Given the description of an element on the screen output the (x, y) to click on. 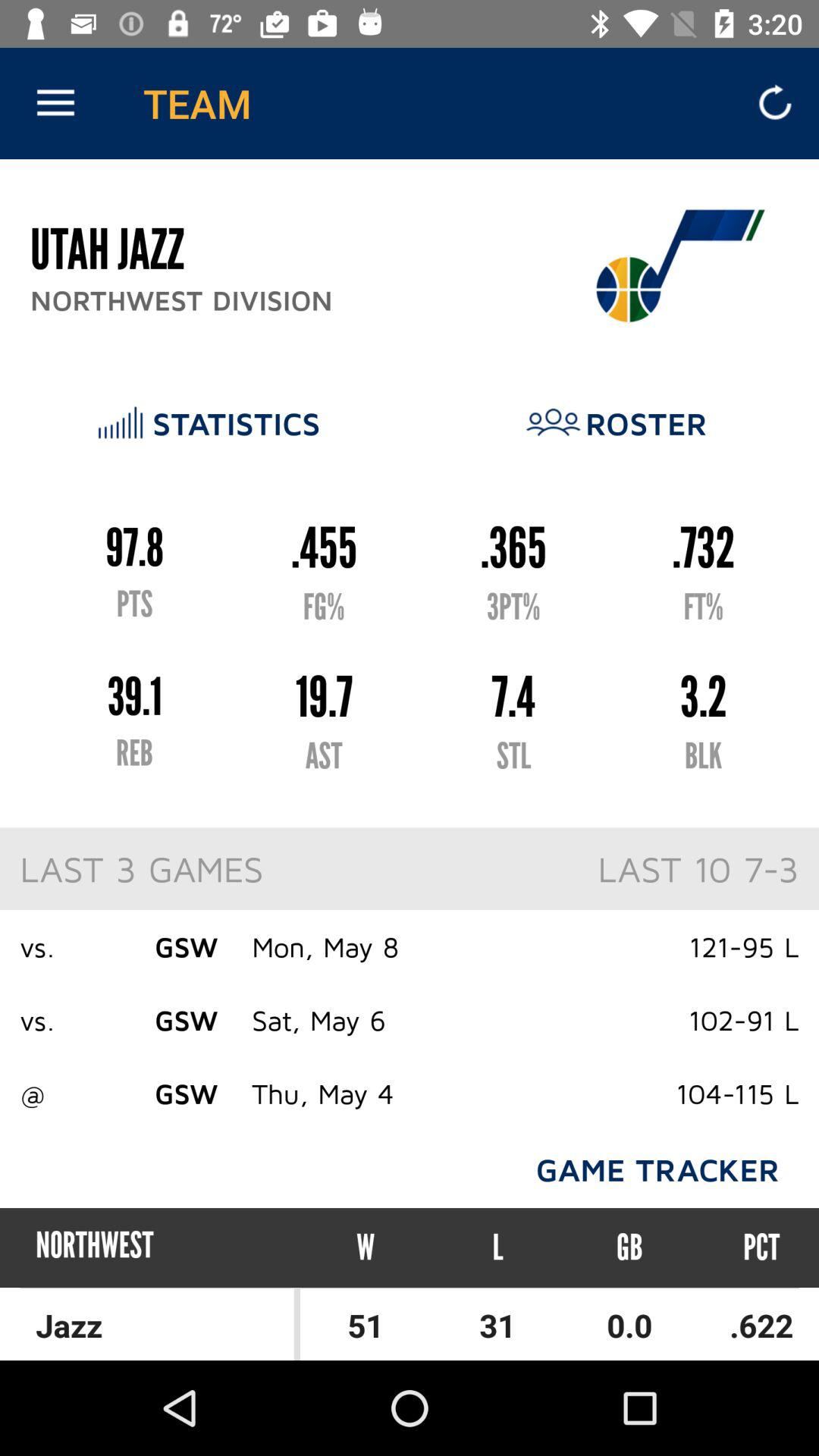
turn on icon to the right of gb (747, 1247)
